Given the description of an element on the screen output the (x, y) to click on. 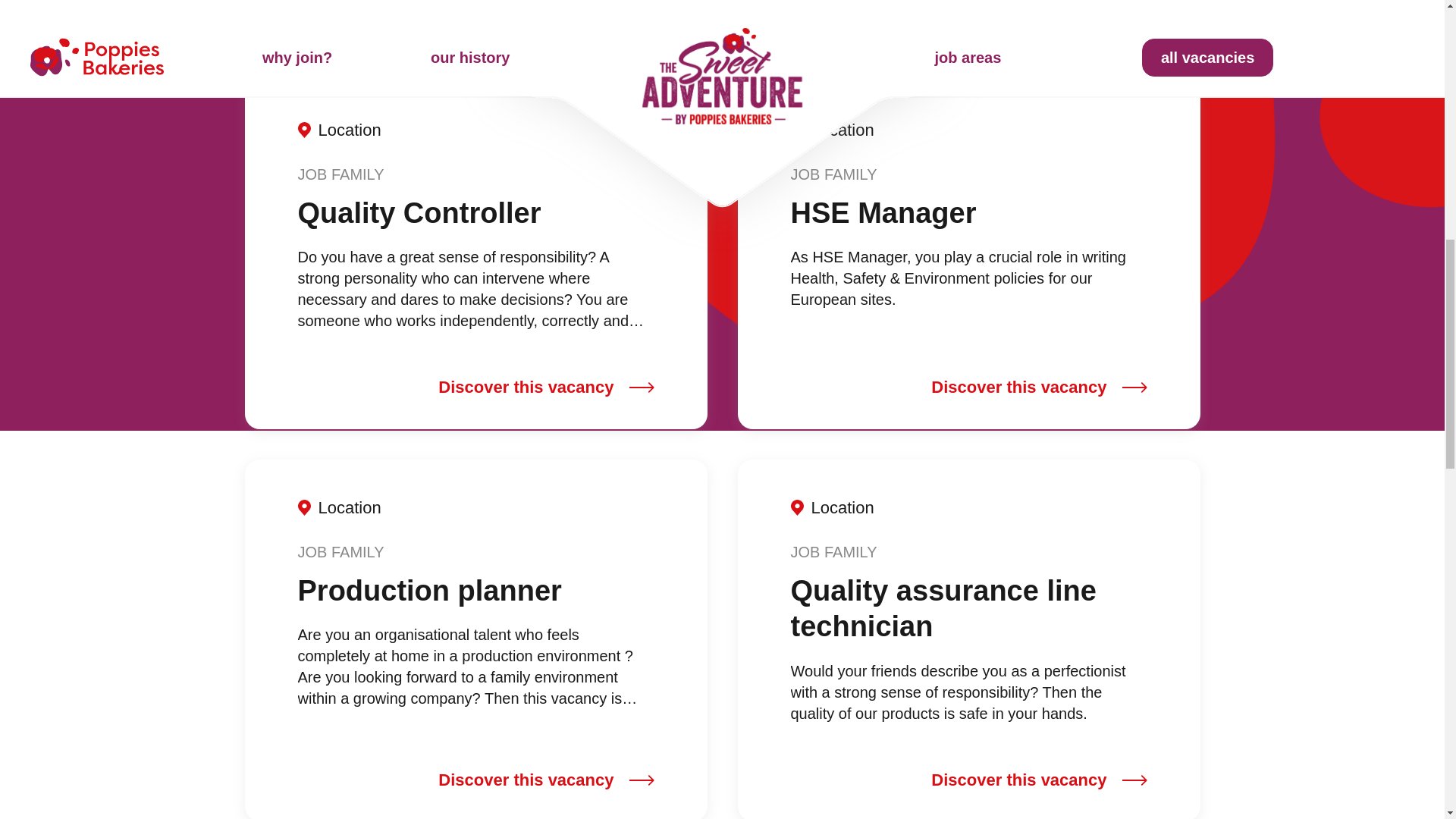
Discover this vacancy (545, 780)
Discover this vacancy (1039, 387)
Discover this vacancy (545, 387)
Discover this vacancy (1039, 780)
